Given the description of an element on the screen output the (x, y) to click on. 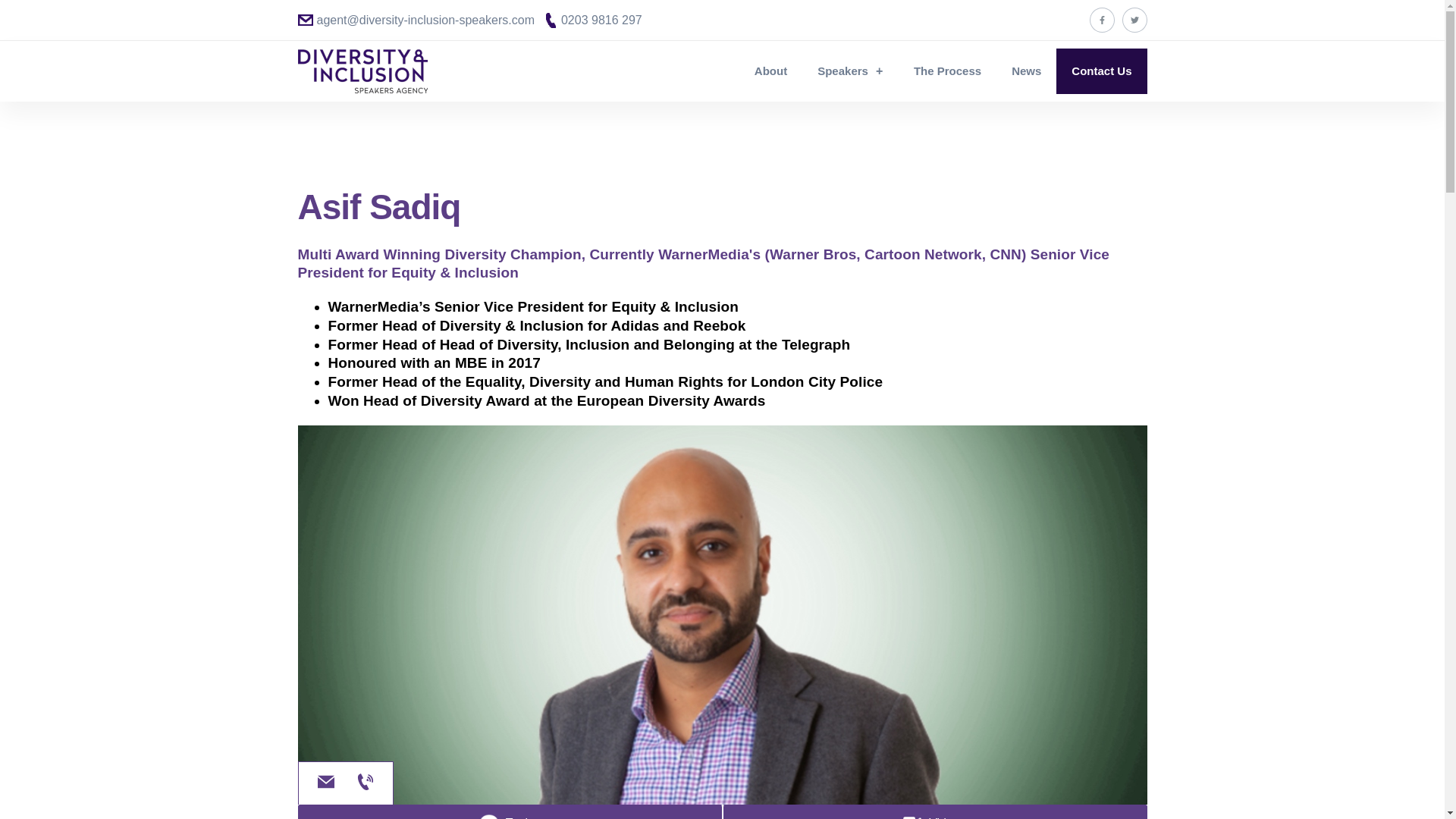
Contact Us (1102, 71)
News (1026, 71)
Speakers (850, 71)
About (770, 71)
logo132 (361, 71)
The Process (946, 71)
0203 9816 297 (594, 19)
